Given the description of an element on the screen output the (x, y) to click on. 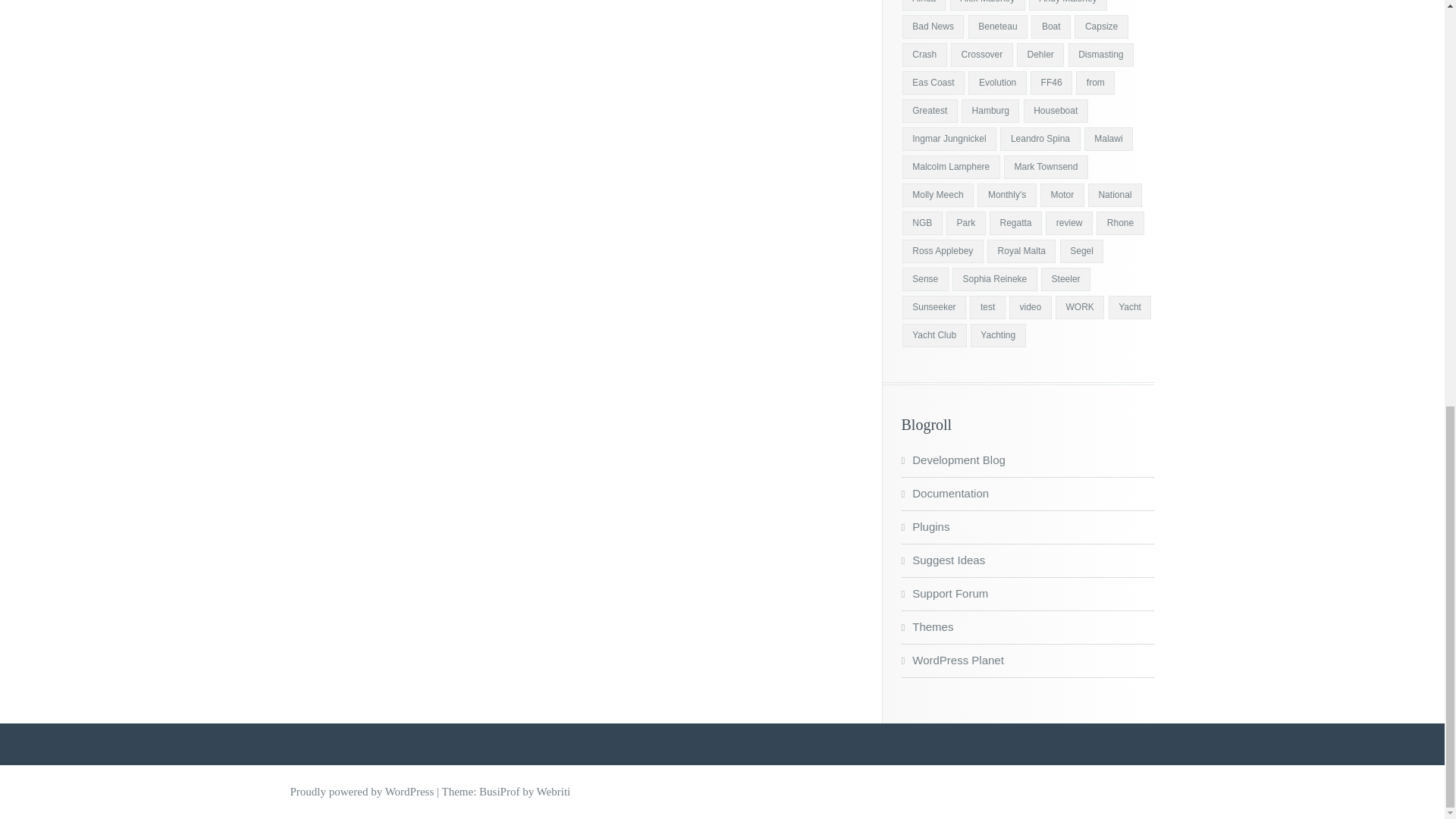
Monthly's (1005, 195)
Andy Maloney (1067, 5)
Eas Coast (932, 83)
Alex Maloney (987, 5)
Capsize (1100, 26)
Dehler (1040, 54)
Crossover (981, 54)
Boat (1050, 26)
Houseboat (1055, 110)
National (1114, 195)
Greatest (930, 110)
Mark Townsend (1045, 167)
FF46 (1050, 83)
Dismasting (1101, 54)
NGB (922, 223)
